Given the description of an element on the screen output the (x, y) to click on. 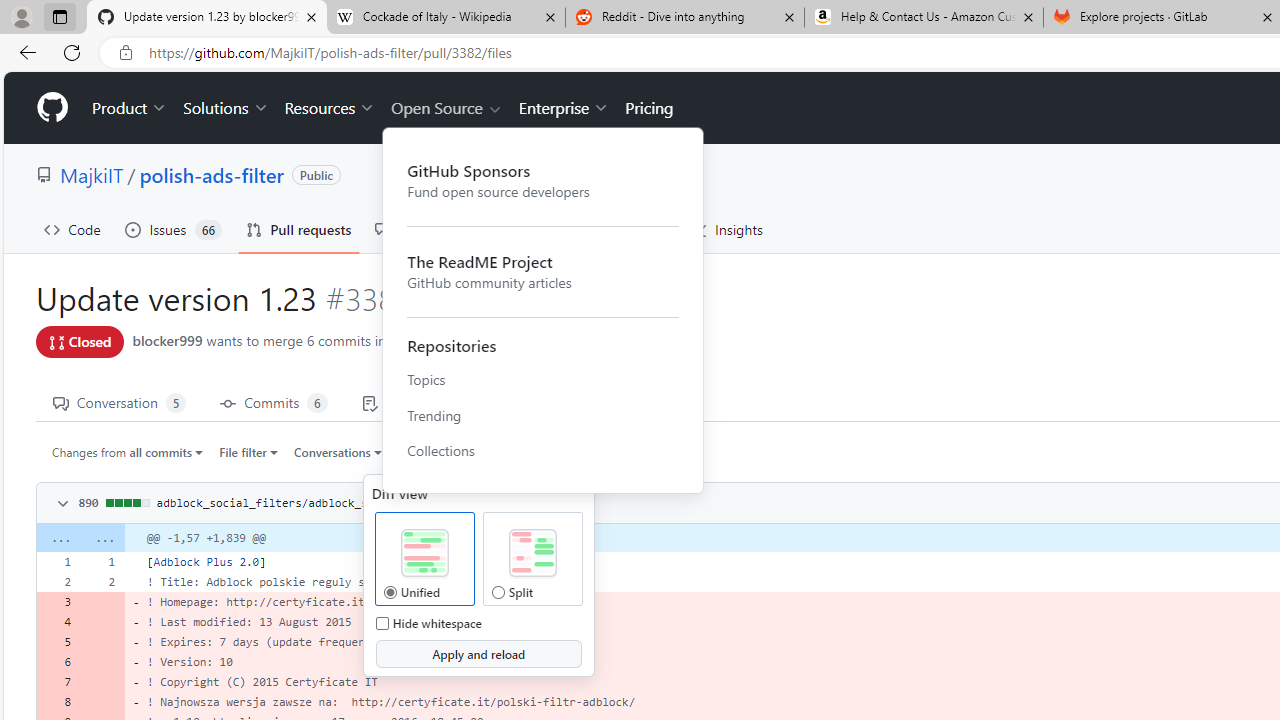
Resources (330, 107)
Trending (543, 415)
2 (102, 581)
GitHub Sponsors Fund open source developers (543, 180)
1 (102, 561)
Pull requests (298, 229)
blocker999 (167, 340)
Enterprise (563, 107)
Issues 66 (173, 229)
adblock_social_filters/adblock_social_list.txt (308, 502)
Class: blob-num blob-num-deletion empty-cell (102, 701)
Cockade of Italy - Wikipedia (445, 17)
